Given the description of an element on the screen output the (x, y) to click on. 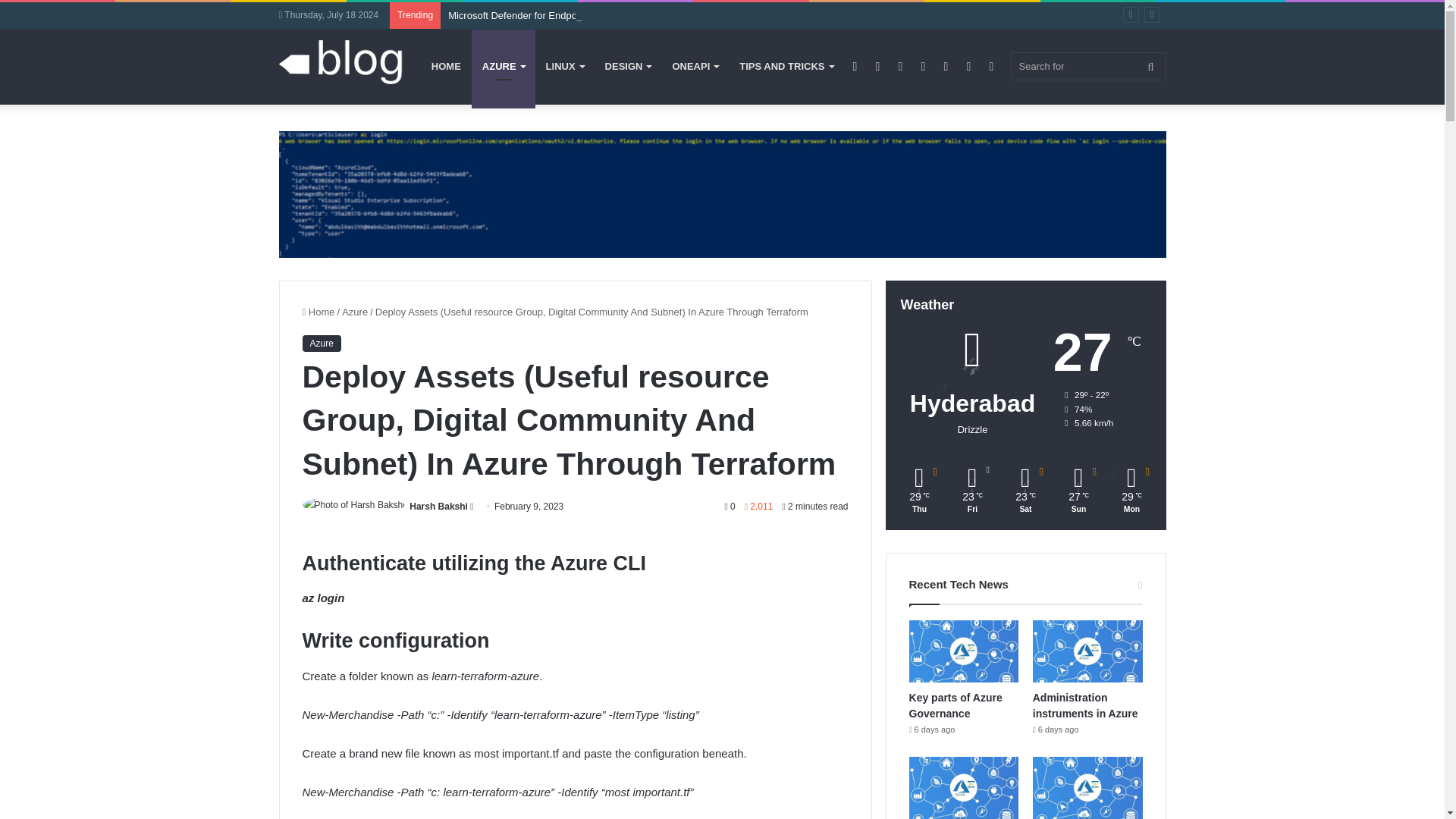
Azure (320, 343)
TIPS AND TRICKS (786, 66)
Harsh Bakshi (438, 506)
Search for (1088, 66)
Azure (355, 311)
Harsh Bakshi (438, 506)
ONEAPI (695, 66)
Home (317, 311)
Blog (341, 64)
DESIGN (628, 66)
